Given the description of an element on the screen output the (x, y) to click on. 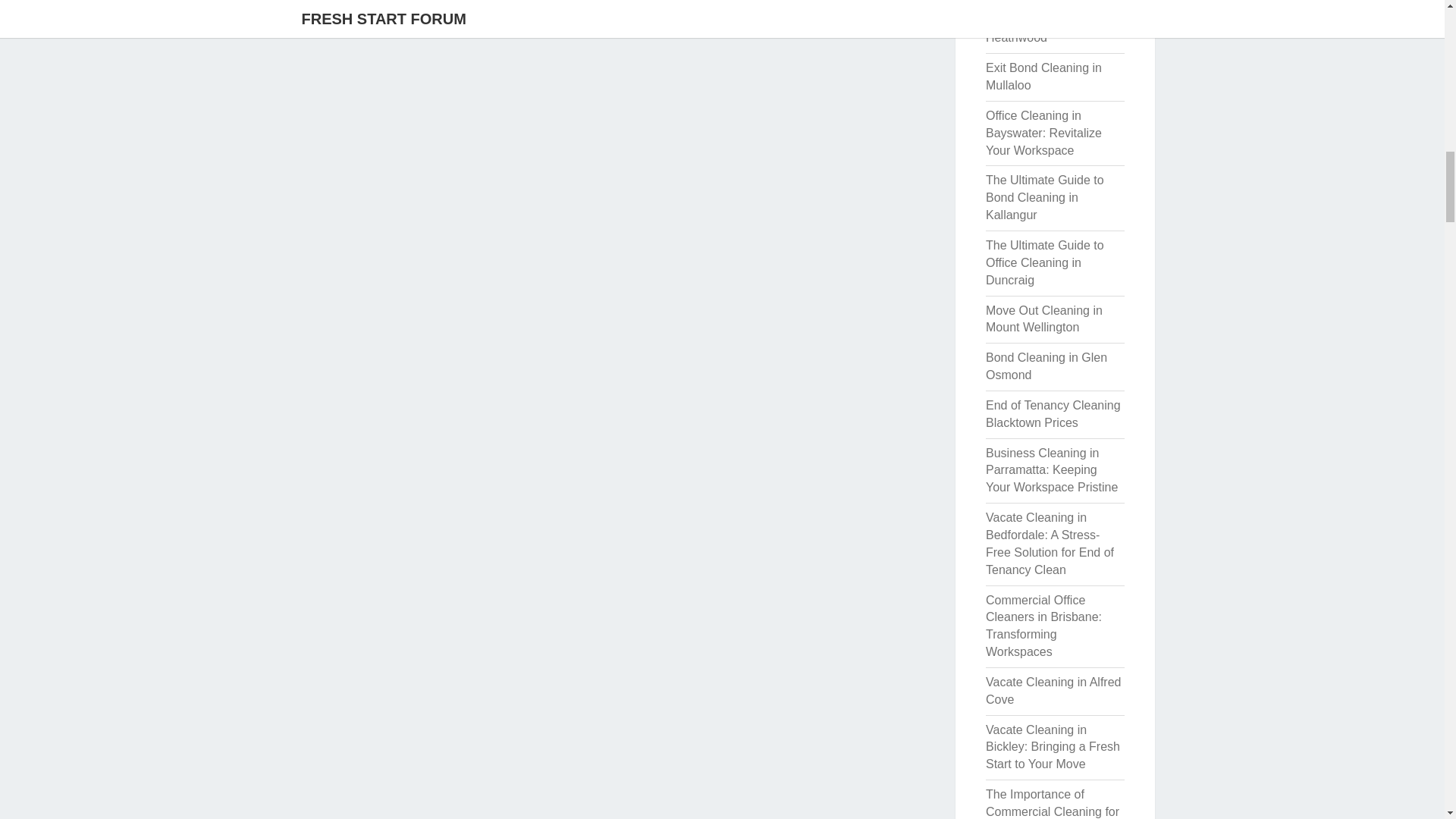
The Importance of End of Lease Cleaning in Heathwood (1053, 22)
The Ultimate Guide to Office Cleaning in Duncraig (1044, 262)
Bond Cleaning in Glen Osmond (1045, 366)
The Ultimate Guide to Bond Cleaning in Kallangur (1044, 197)
End of Tenancy Cleaning Blacktown Prices (1053, 413)
Move Out Cleaning in Mount Wellington (1043, 318)
Exit Bond Cleaning in Mullaloo (1043, 76)
